Given the description of an element on the screen output the (x, y) to click on. 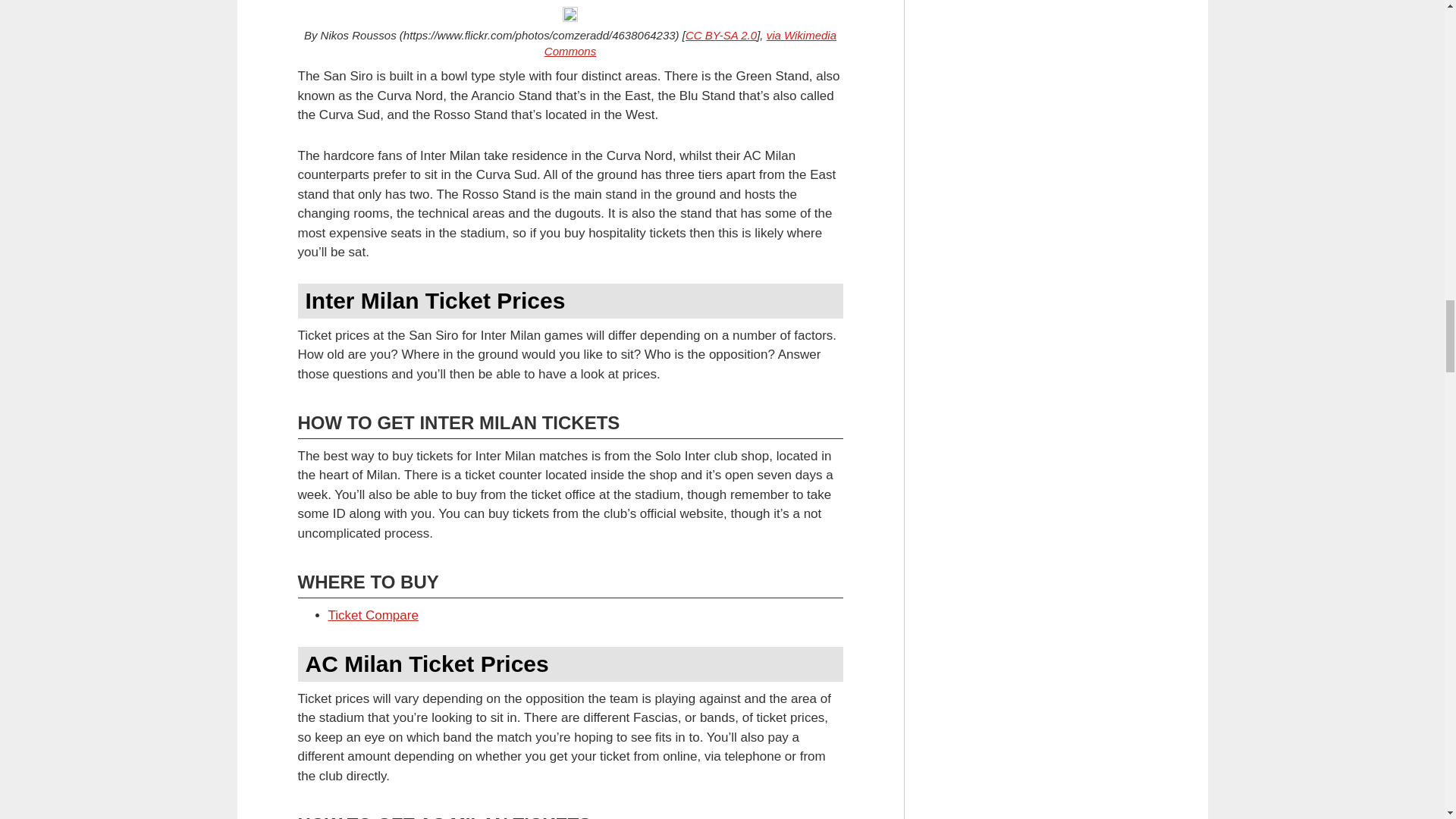
CC BY-SA 2.0 (721, 34)
via Wikimedia Commons (689, 42)
Ticket Compare (372, 615)
